Given the description of an element on the screen output the (x, y) to click on. 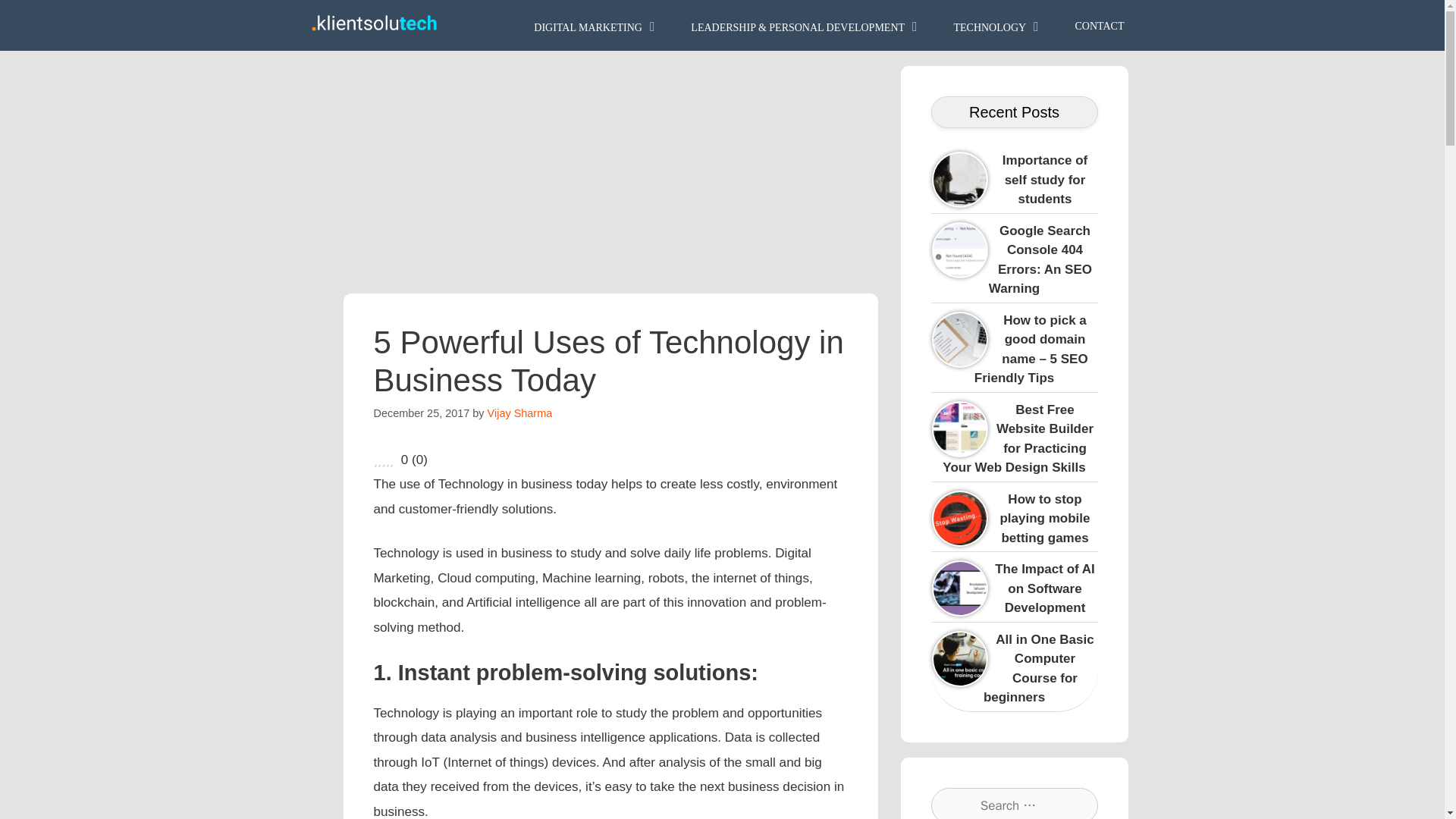
Google Search Console 404 Errors: An SEO Warning (1082, 230)
The Impact of AI on Software Development (1044, 588)
CONTACT (1099, 24)
How to pick a good domain name - 5 SEO Friendly Tips (1030, 348)
How to stop playing mobile betting games (1090, 499)
The Impact of AI on Software Development (1077, 569)
Advertisement (609, 172)
Google Search Console 404 Errors: An SEO Warning (1040, 258)
Vijay Sharma (520, 413)
Importance of self study for students (1086, 161)
How to pick a good domain name - 5 SEO Friendly Tips (1086, 320)
View all posts by Vijay Sharma (520, 413)
DIGITAL MARKETING (596, 25)
How to stop playing mobile betting games (1043, 517)
